Given the description of an element on the screen output the (x, y) to click on. 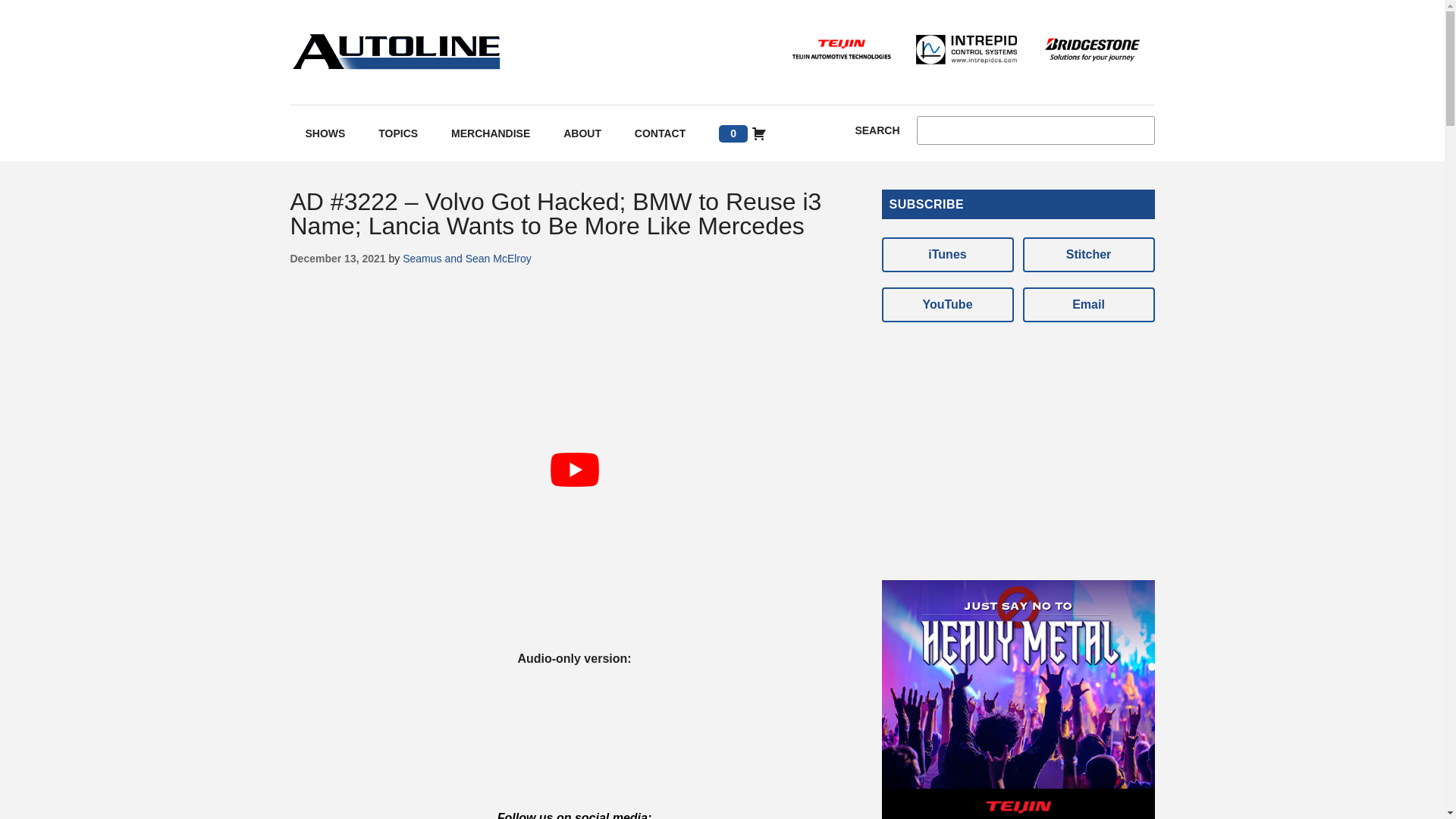
MERCHANDISE (489, 133)
TOPICS (397, 133)
SHOWS (324, 133)
Advertisement (1017, 443)
ABOUT (581, 133)
0 (742, 133)
CONTACT (660, 133)
